Given the description of an element on the screen output the (x, y) to click on. 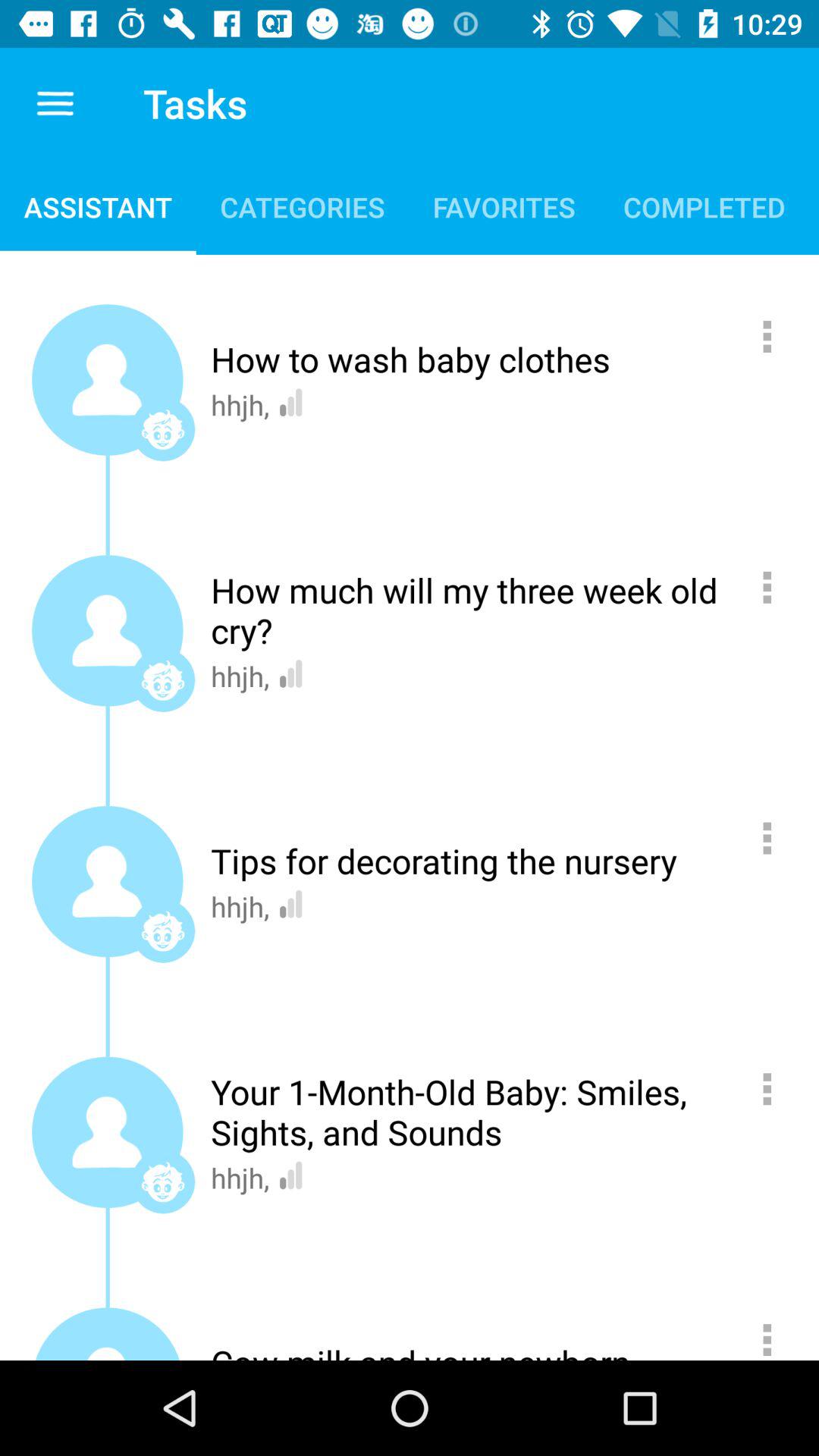
see more (775, 838)
